Given the description of an element on the screen output the (x, y) to click on. 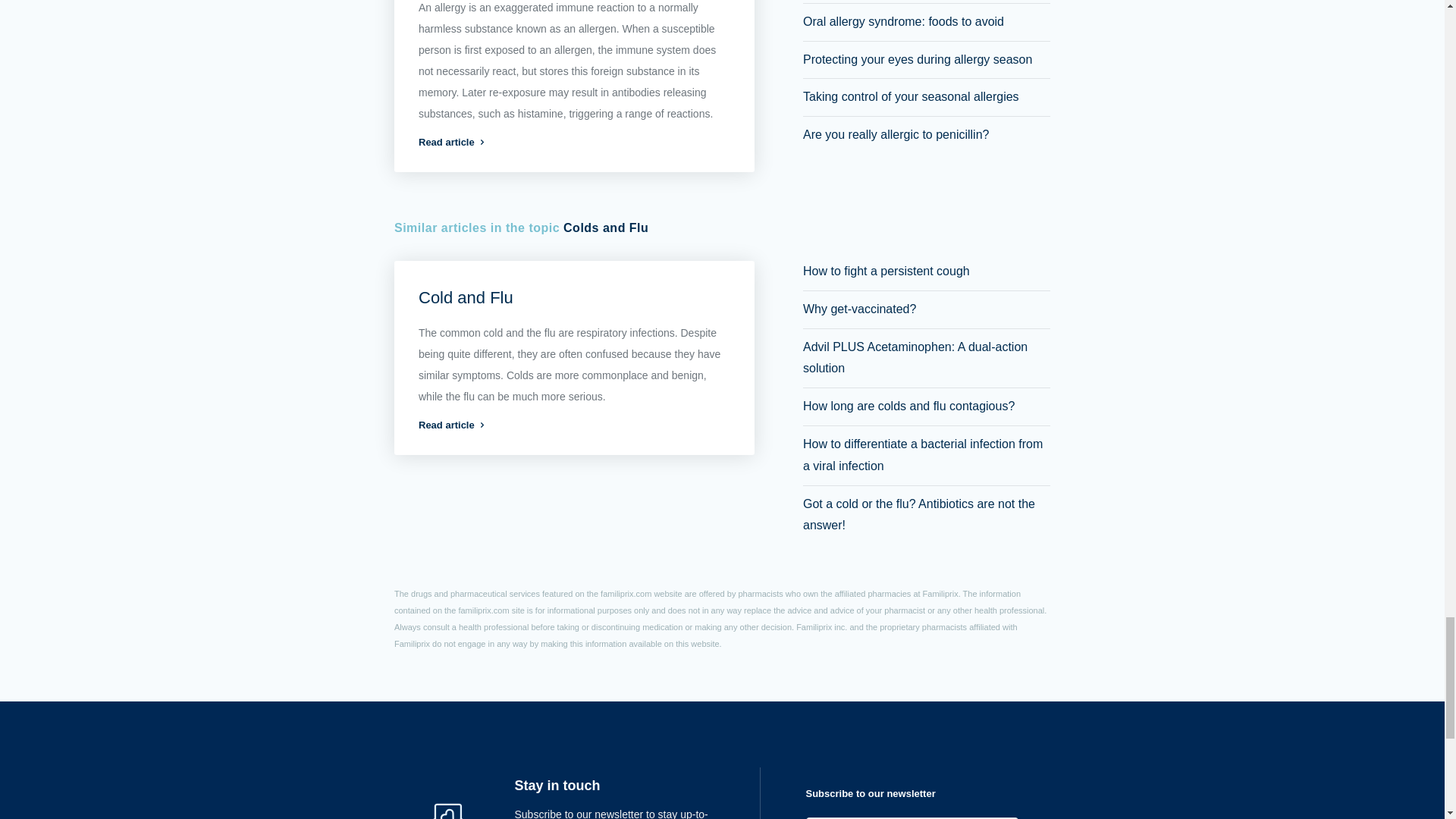
Protecting your eyes during allergy season (917, 59)
Colds and Flu (605, 228)
How long are colds and flu contagious? (908, 405)
Are you really allergic to penicillin? (895, 133)
Read article (574, 142)
Oral allergy syndrome: foods to avoid (903, 21)
Why get-vaccinated? (859, 308)
Taking control of your seasonal allergies (911, 96)
How to fight a persistent cough (886, 270)
Read article (574, 424)
Advil PLUS Acetaminophen: A dual-action solution (915, 357)
Cold and Flu (466, 297)
